Given the description of an element on the screen output the (x, y) to click on. 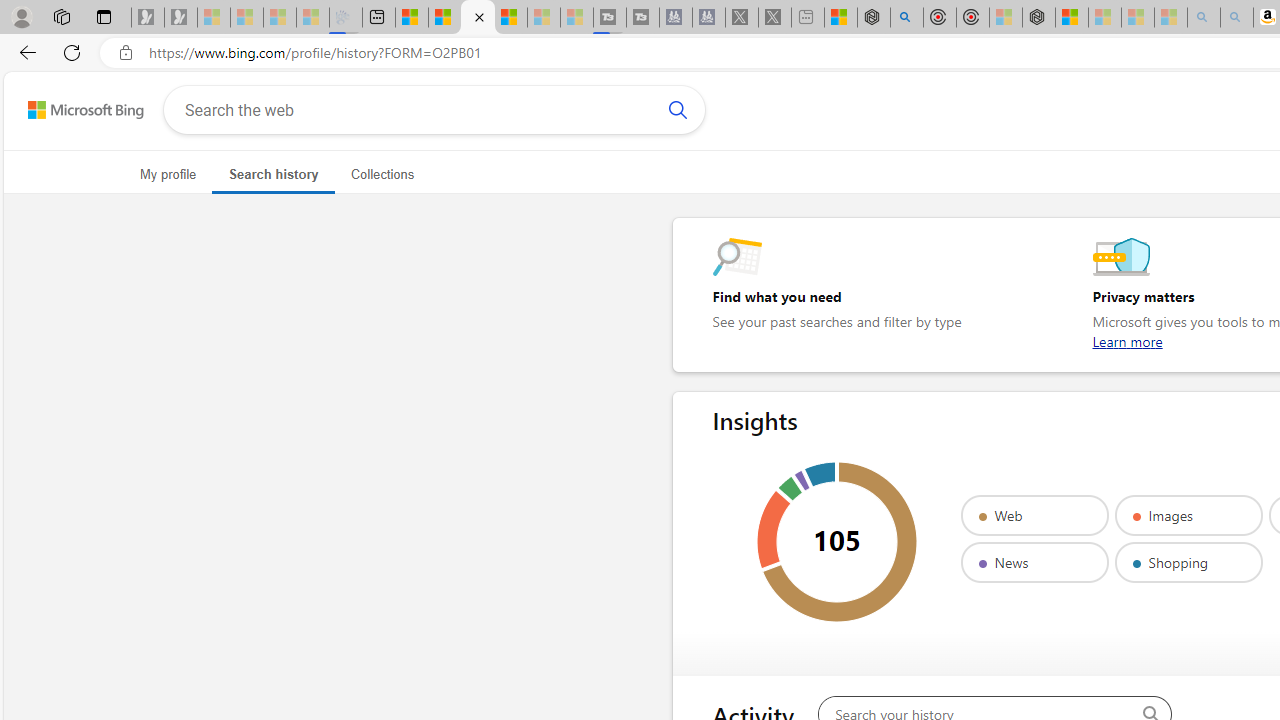
Class: el_arc partner-news (801, 480)
Class: el_arc partner-videos (789, 488)
poe - Search (906, 17)
Search (677, 110)
Amazon Echo Dot PNG - Search Images - Sleeping (1237, 17)
Learnmore (1127, 341)
View site information (125, 53)
Microsoft Start - Sleeping (543, 17)
